Given the description of an element on the screen output the (x, y) to click on. 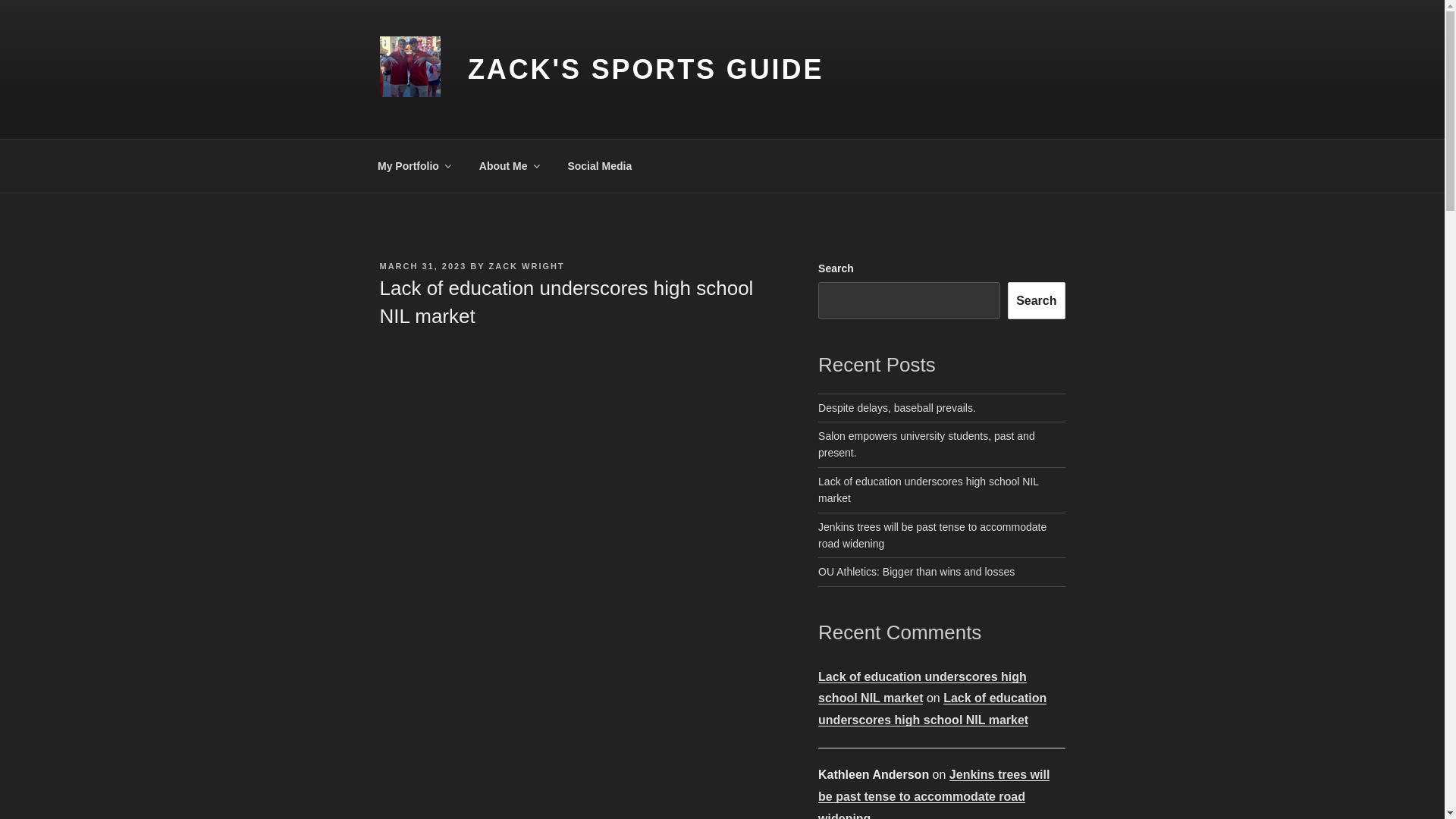
About Me (508, 165)
Lack of education underscores high school NIL market (922, 687)
ZACK WRIGHT (526, 266)
My Portfolio (413, 165)
Despite delays, baseball prevails. (896, 408)
Social Media (599, 165)
Salon empowers university students, past and present. (926, 443)
Search (1035, 299)
Lack of education underscores high school NIL market (928, 489)
MARCH 31, 2023 (421, 266)
OU Athletics: Bigger than wins and losses (916, 571)
ZACK'S SPORTS GUIDE (645, 69)
Lack of education underscores high school NIL market (932, 708)
